Given the description of an element on the screen output the (x, y) to click on. 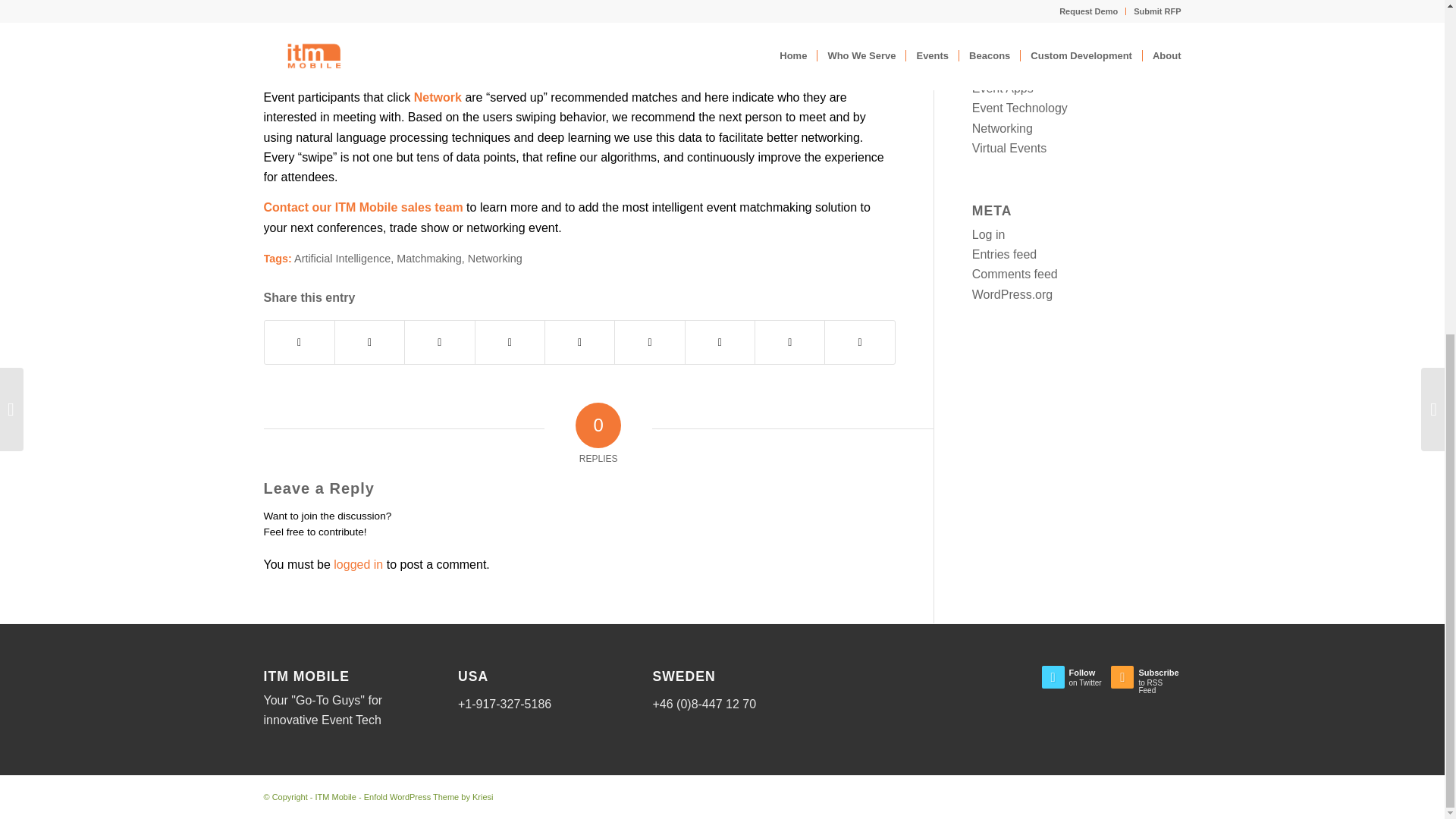
Networking (494, 258)
Artificial Intelligence (342, 258)
Contact our ITM Mobile sales team (363, 206)
Matchmaking (428, 258)
logged in (357, 563)
